Given the description of an element on the screen output the (x, y) to click on. 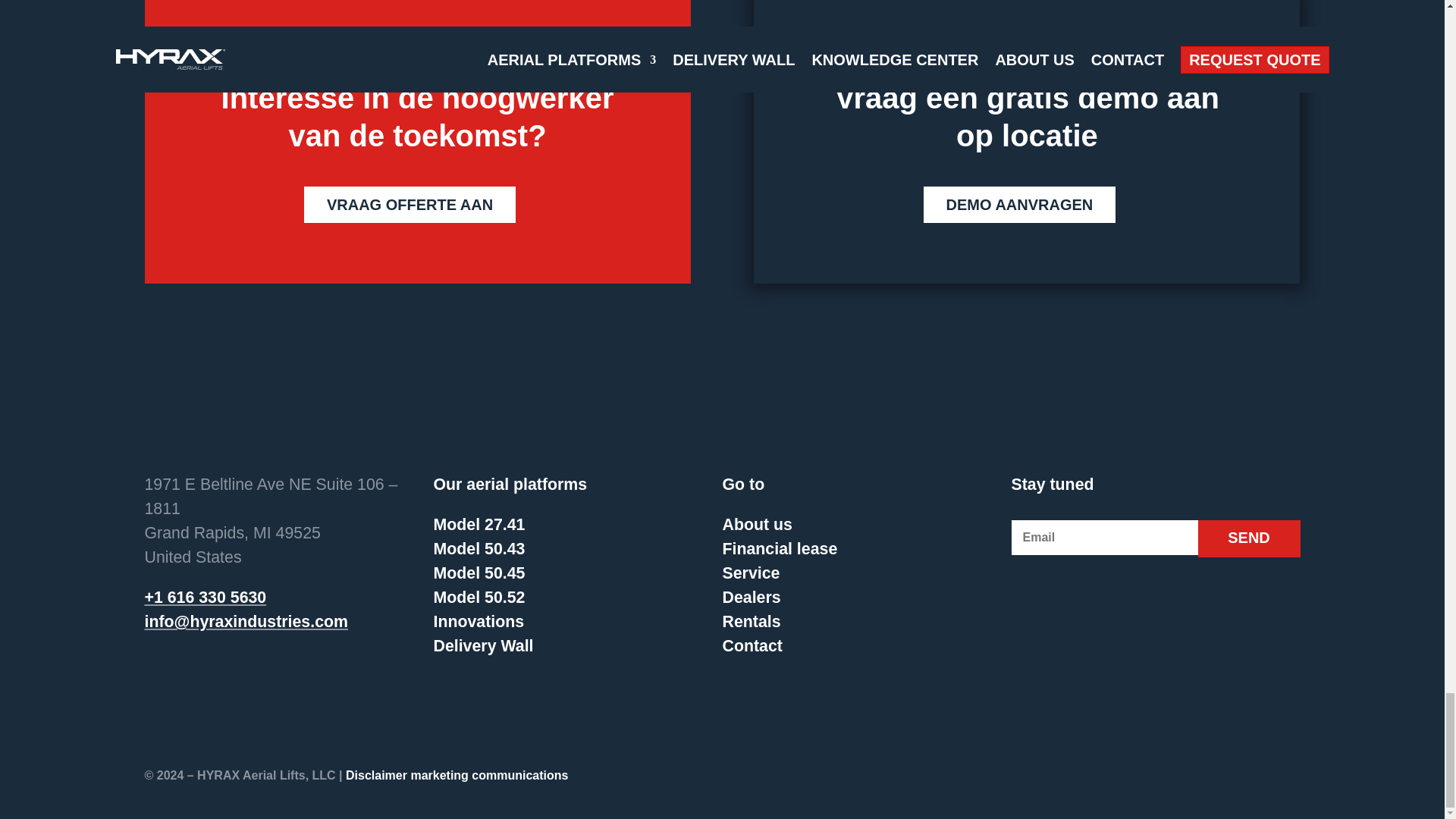
Logo HYRAX Aerial Lifts wit grijs (232, 408)
